Given the description of an element on the screen output the (x, y) to click on. 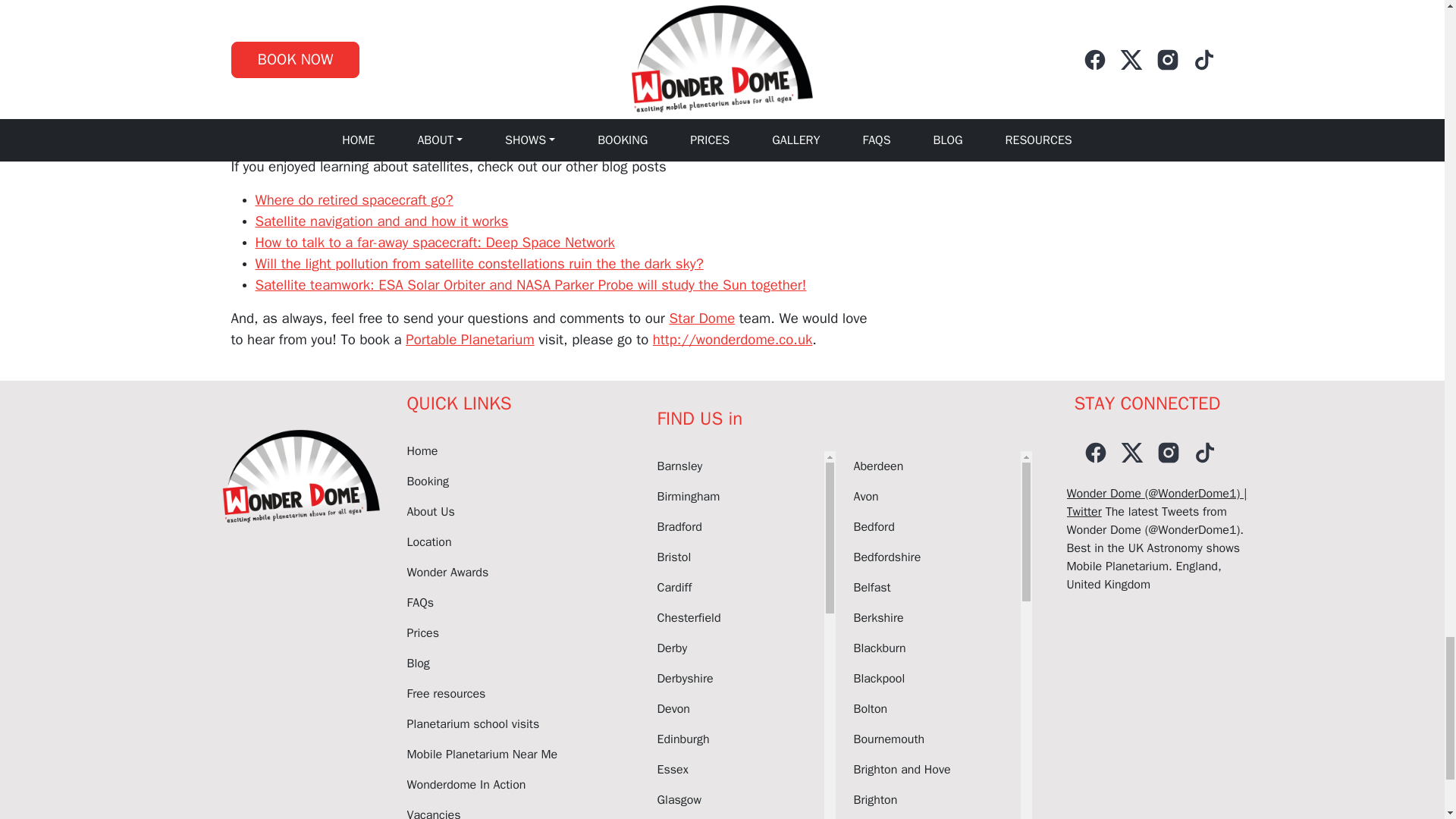
How to talk to a far-away spacecraft: Deep Space Network (434, 242)
Where do retired spacecraft go? (353, 199)
Satellite navigation and and how it works (381, 221)
Star Dome (701, 318)
Cospas-Sarsat - How it Works (420, 69)
